Given the description of an element on the screen output the (x, y) to click on. 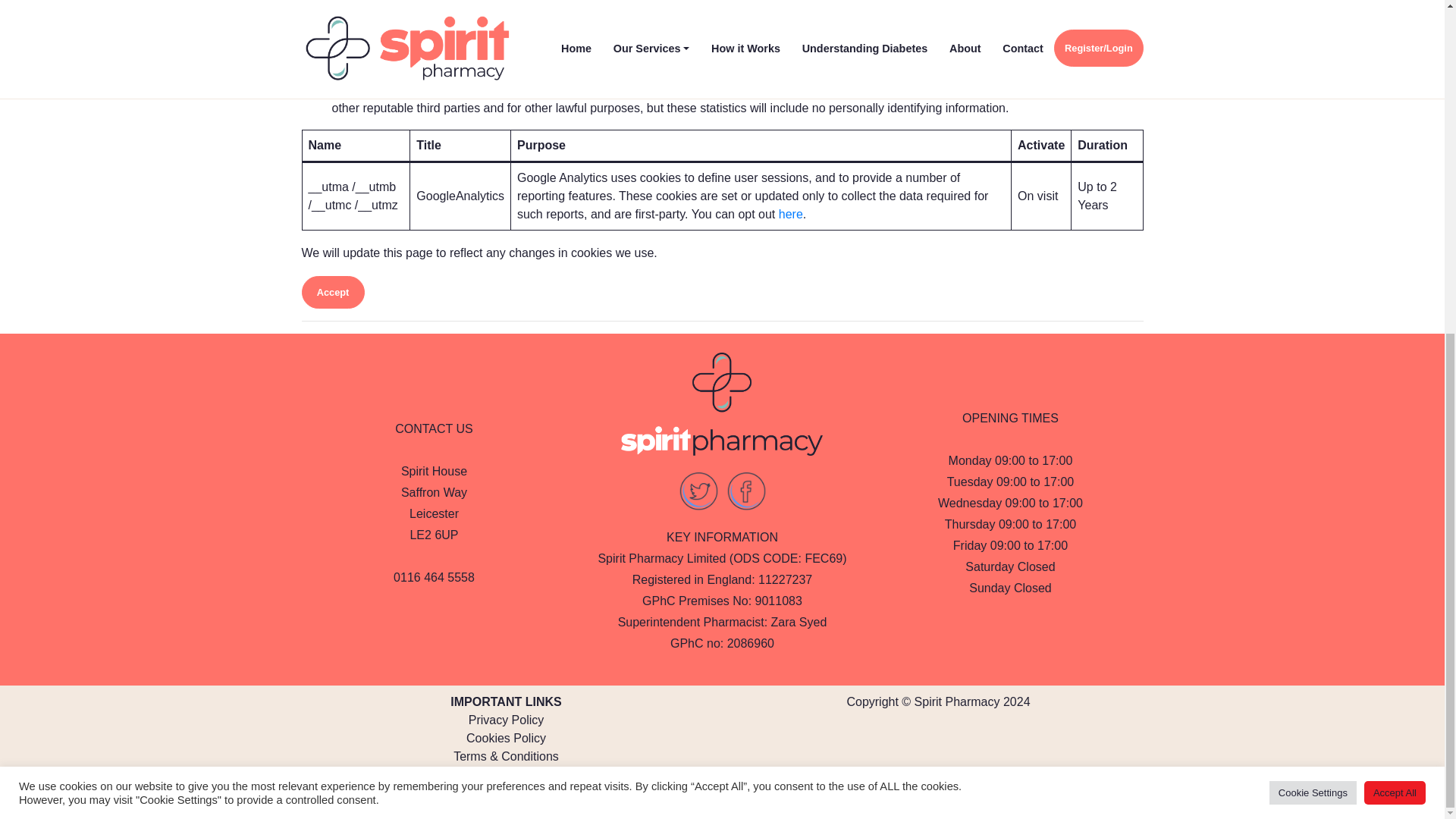
Accept (333, 292)
here (790, 214)
Privacy Policy (506, 719)
Cookies Policy (505, 738)
here (940, 794)
Cookie Settings (1312, 236)
Accept All (1394, 236)
